Given the description of an element on the screen output the (x, y) to click on. 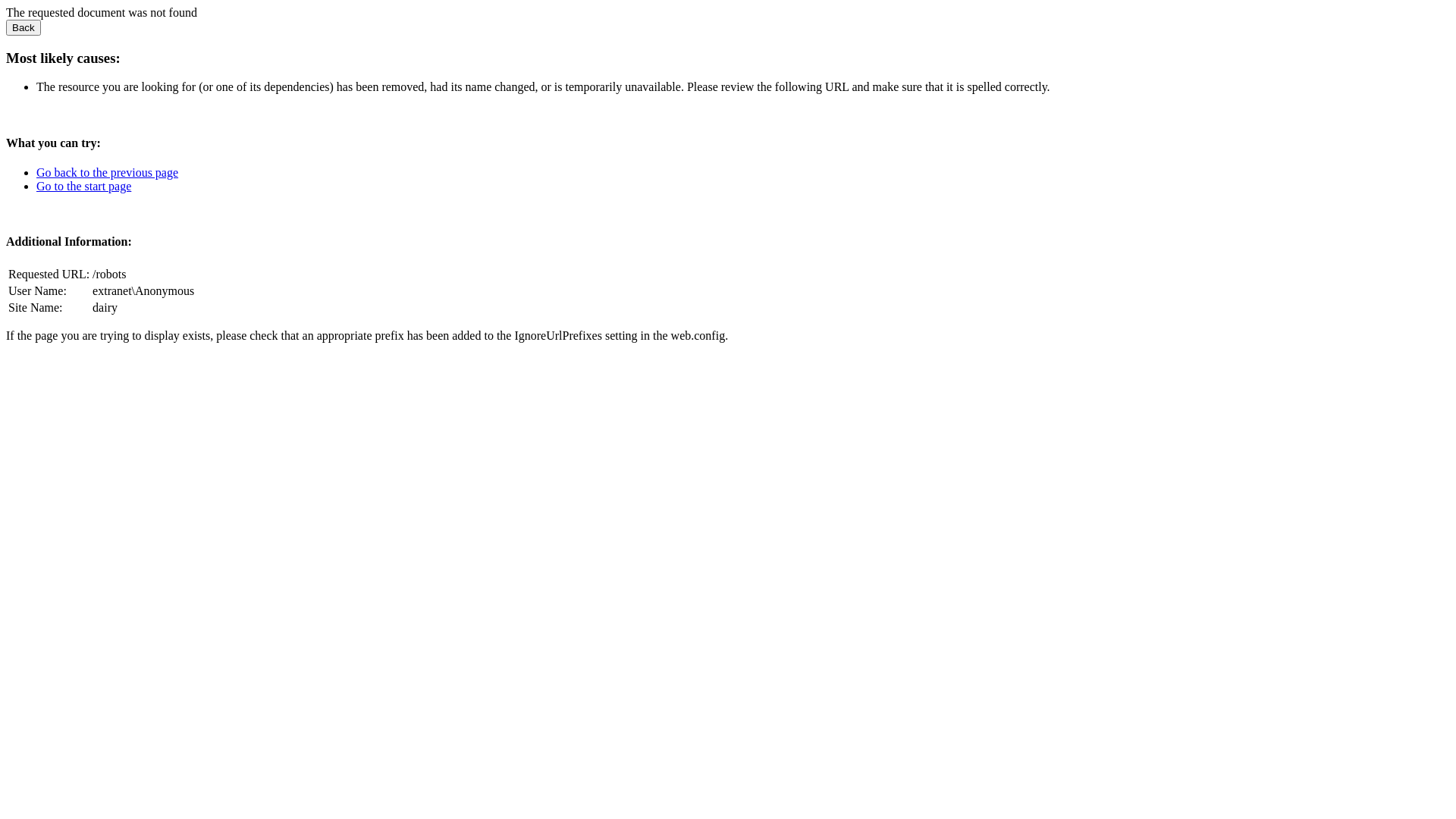
Go to the start page Element type: text (83, 185)
Back Element type: text (23, 27)
Go back to the previous page Element type: text (107, 172)
